Given the description of an element on the screen output the (x, y) to click on. 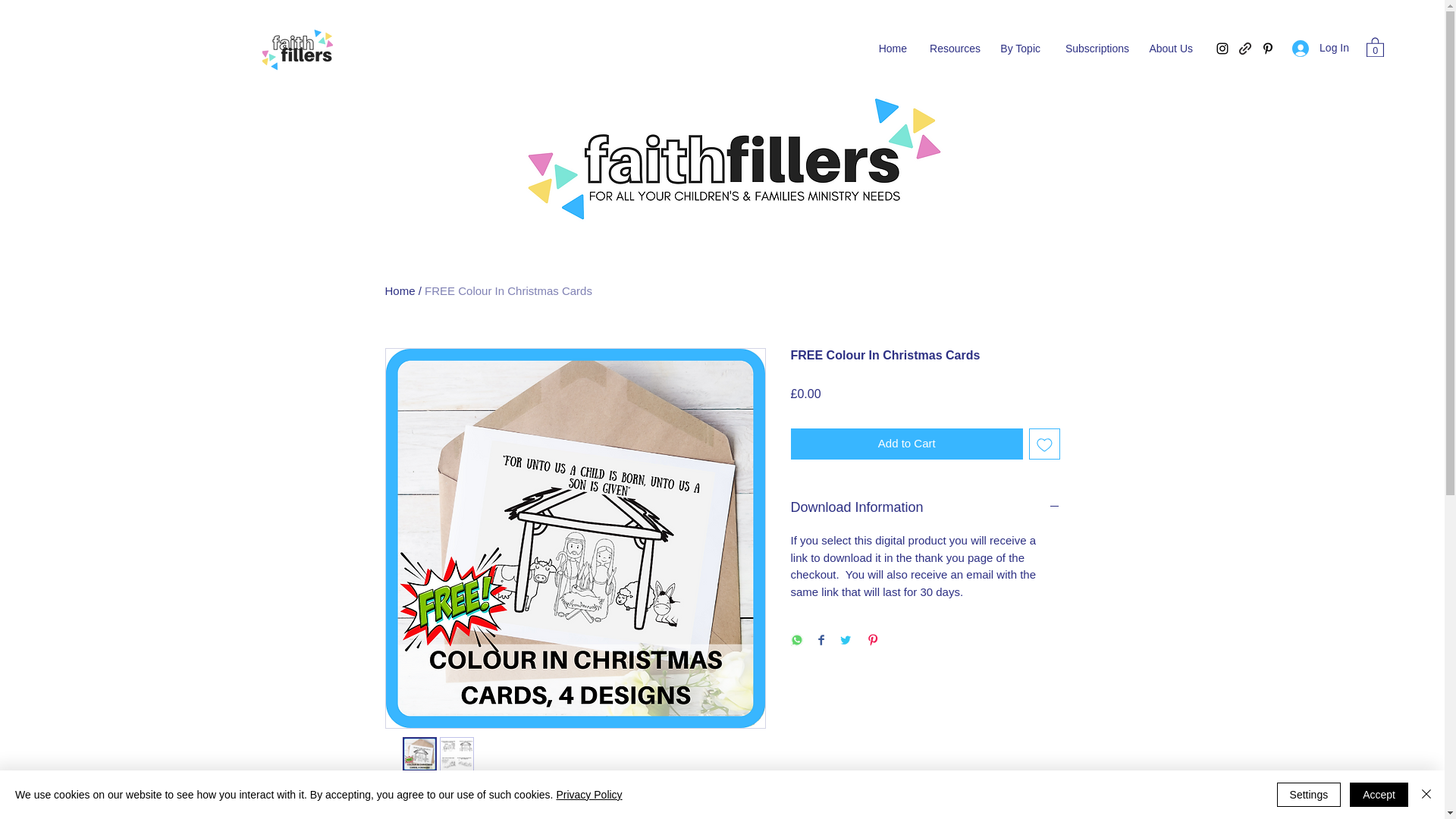
FREE Colour In Christmas Cards (508, 290)
0 (1375, 46)
Log In (1320, 48)
Download Information (924, 508)
Add to Cart (906, 443)
Resources (951, 47)
Home (890, 47)
0 (1375, 46)
About Us (1168, 47)
Home (399, 290)
Subscriptions (1092, 47)
Privacy Policy (588, 794)
By Topic (1018, 47)
